Given the description of an element on the screen output the (x, y) to click on. 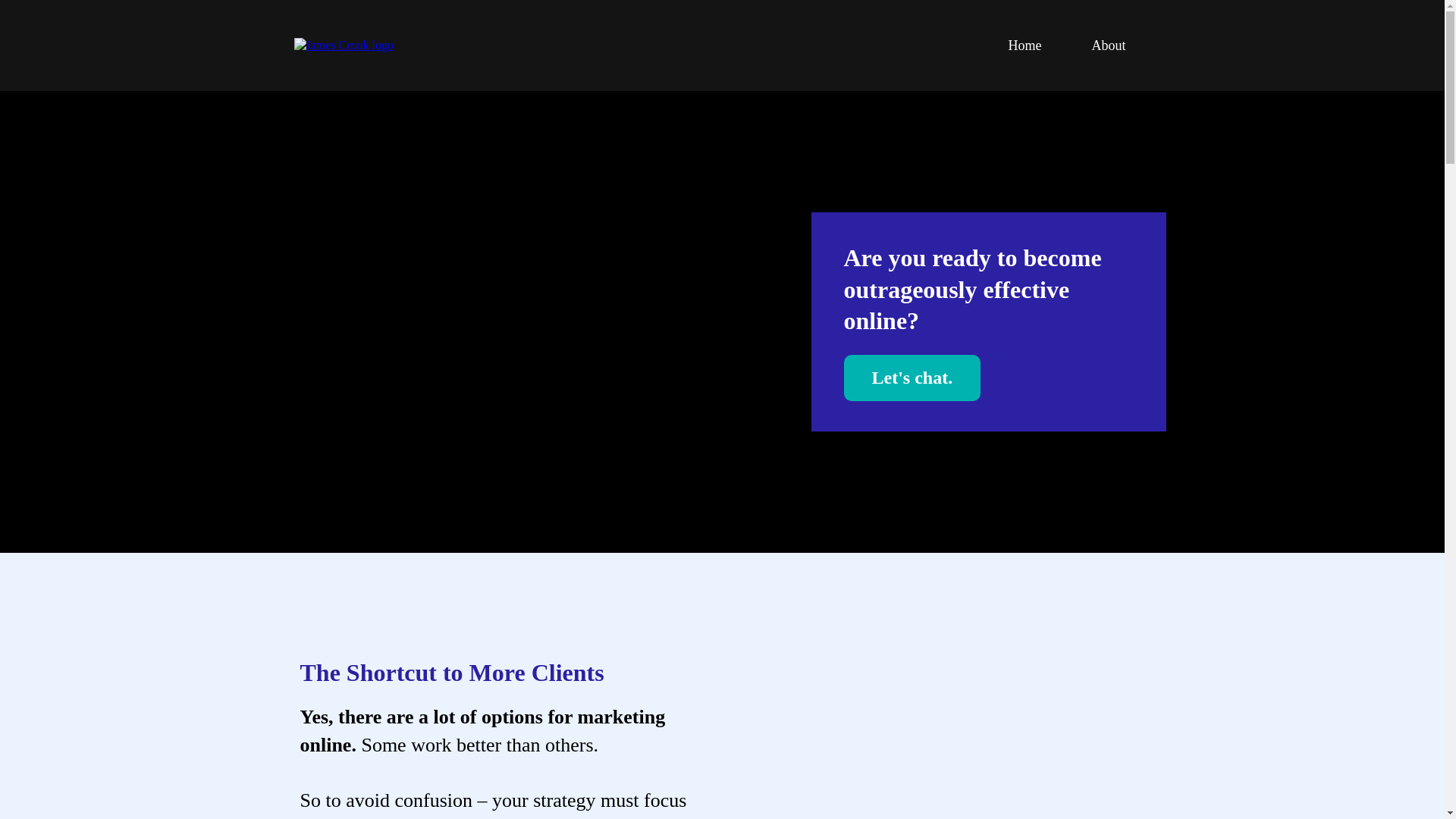
Let's chat. (911, 377)
Home (1023, 45)
About (1107, 45)
